Given the description of an element on the screen output the (x, y) to click on. 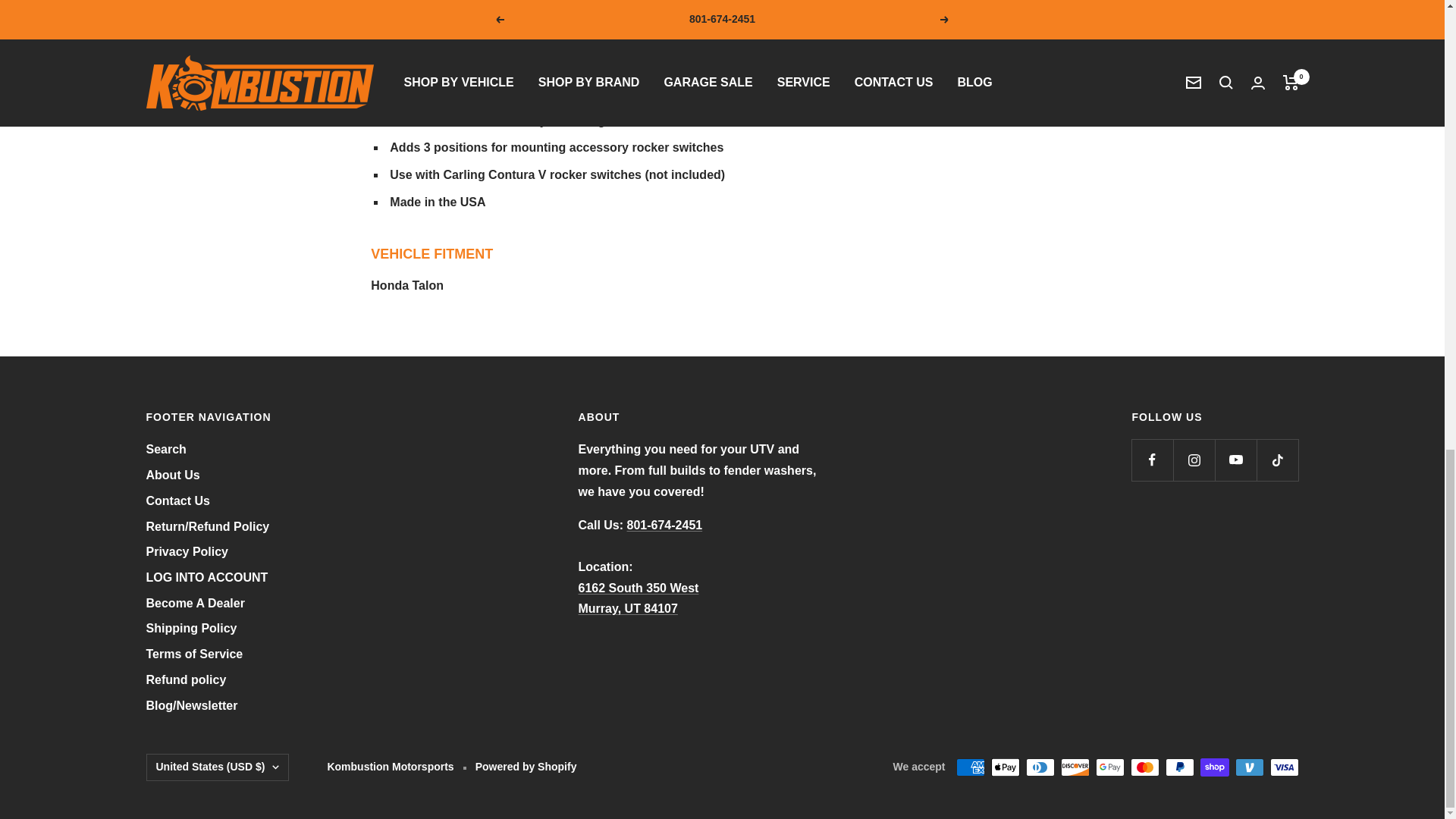
Kombustion Motorsports Address (638, 598)
tel:8016742451 (665, 524)
